Given the description of an element on the screen output the (x, y) to click on. 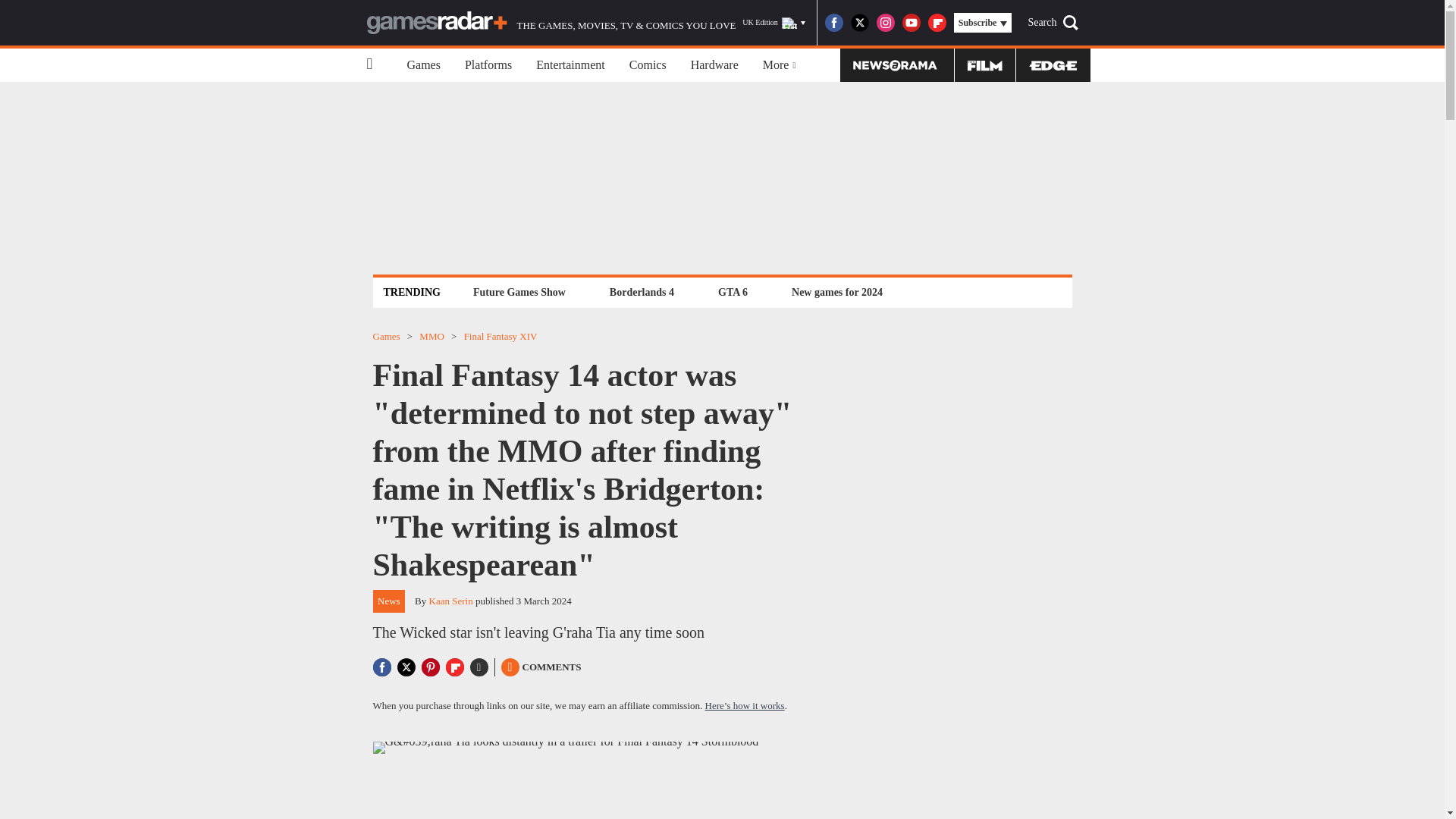
New games for 2024 (837, 292)
Future Games Show (518, 292)
UK Edition (773, 22)
Entertainment (570, 64)
Platforms (488, 64)
GTA 6 (732, 292)
Hardware (714, 64)
Comics (647, 64)
Games (422, 64)
Borderlands 4 (641, 292)
